Given the description of an element on the screen output the (x, y) to click on. 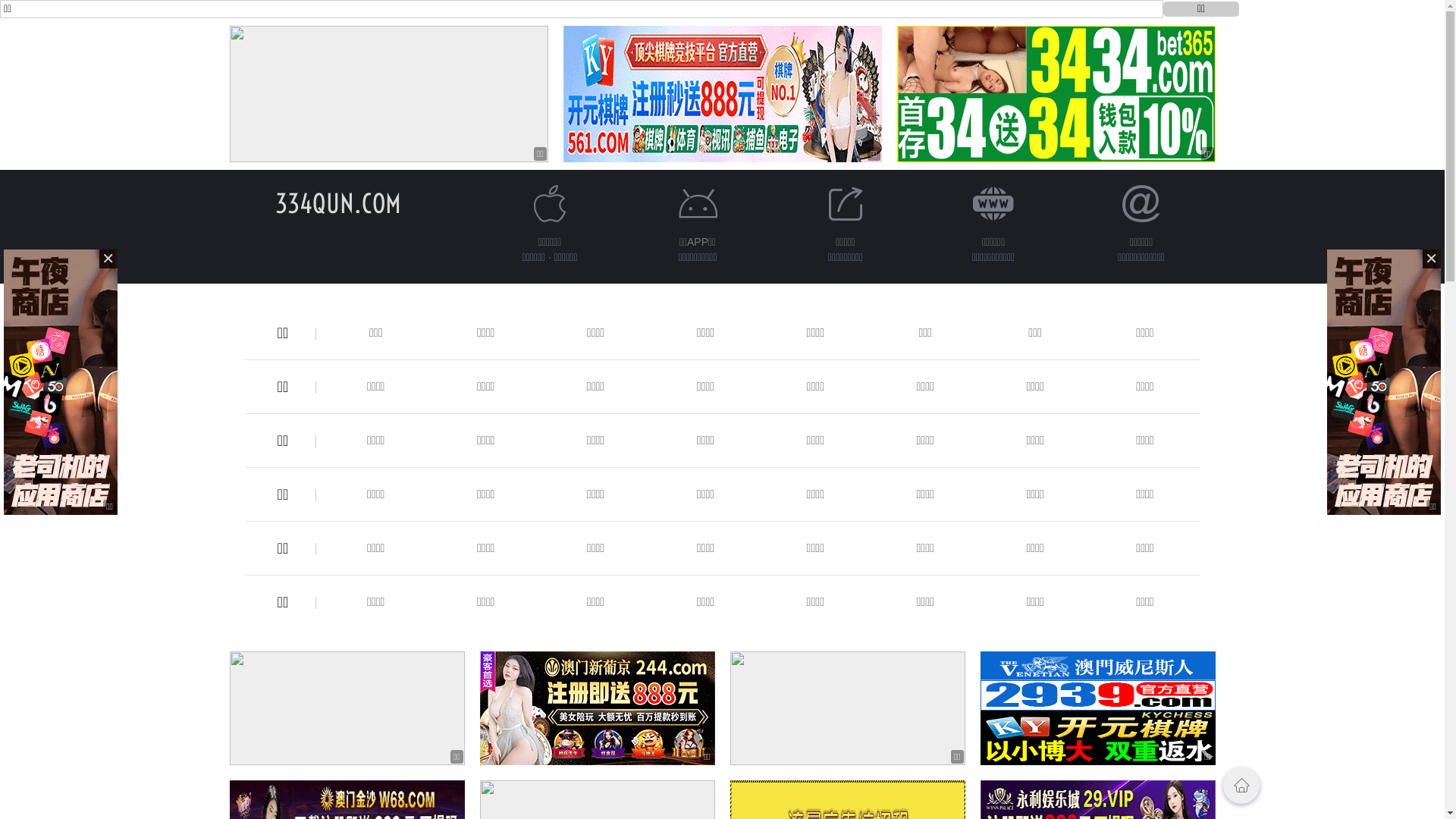
334QUN.COM Element type: text (337, 203)
